Given the description of an element on the screen output the (x, y) to click on. 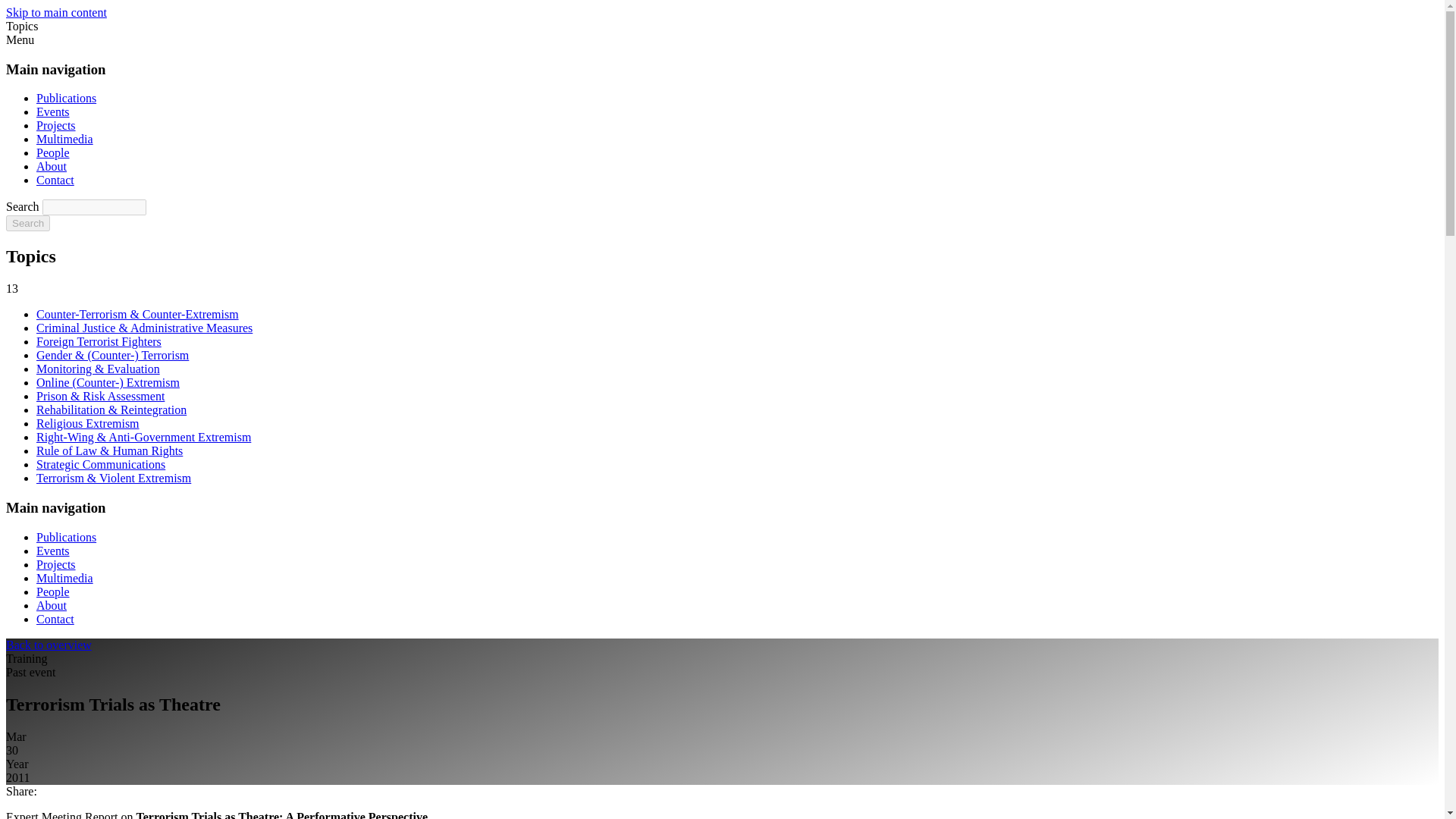
Projects (55, 563)
About (51, 165)
Religious Extremism (87, 422)
Skip to main content (55, 11)
Search (27, 222)
Publications (66, 97)
Projects (55, 124)
People (52, 152)
People (52, 591)
Publications (66, 536)
Contact (55, 618)
Strategic Communications (100, 463)
Enter the terms you wish to search for. (94, 207)
About (51, 604)
Events (52, 111)
